Given the description of an element on the screen output the (x, y) to click on. 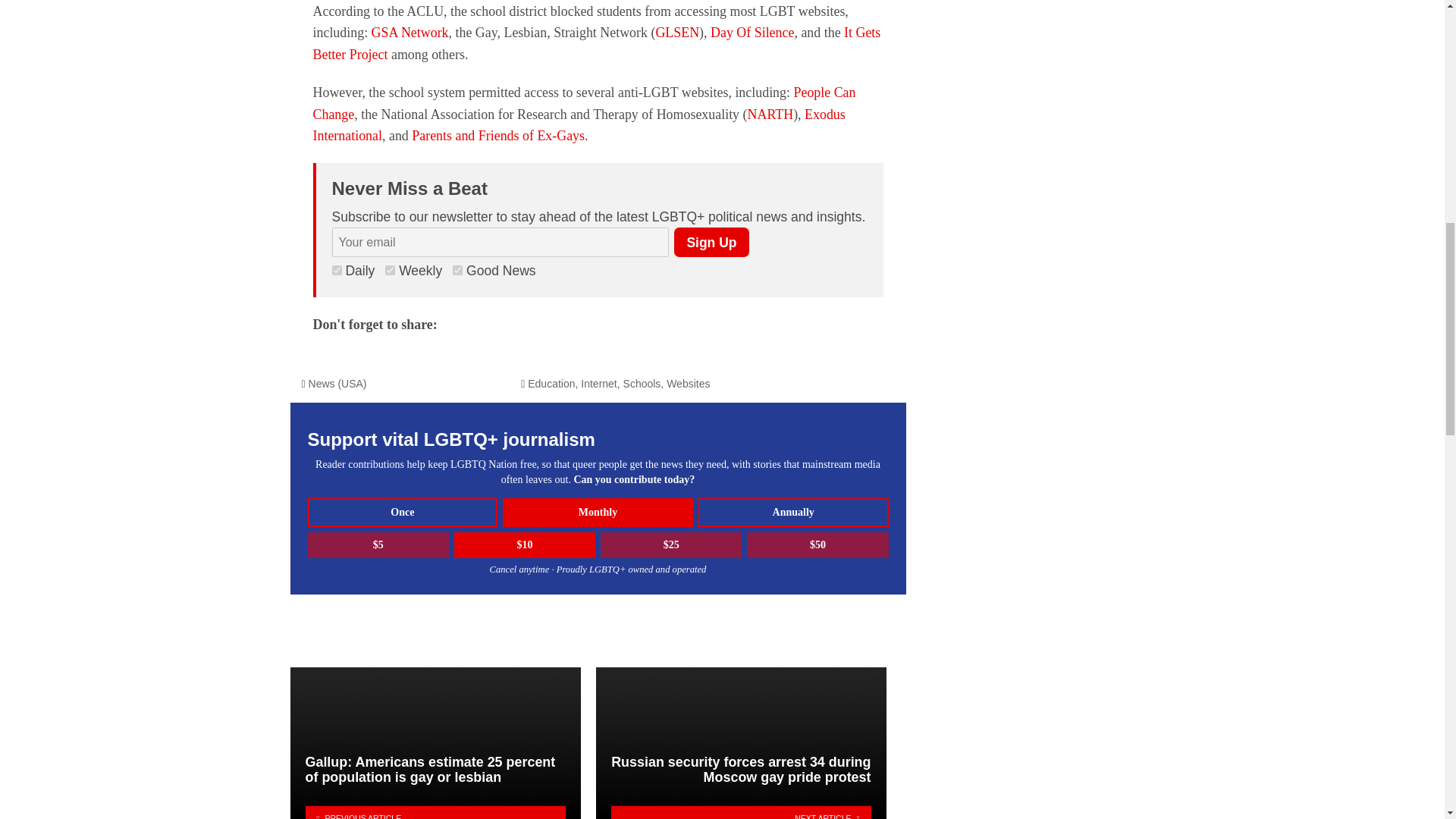
Day Of Silence (751, 32)
Sign Up (711, 242)
1920883 (457, 270)
NARTH (770, 113)
1920884 (389, 270)
Exodus International (578, 124)
People Can Change (584, 103)
Parents and Friends of Ex-Gays (498, 135)
1920885 (336, 270)
GSA Network (409, 32)
